Given the description of an element on the screen output the (x, y) to click on. 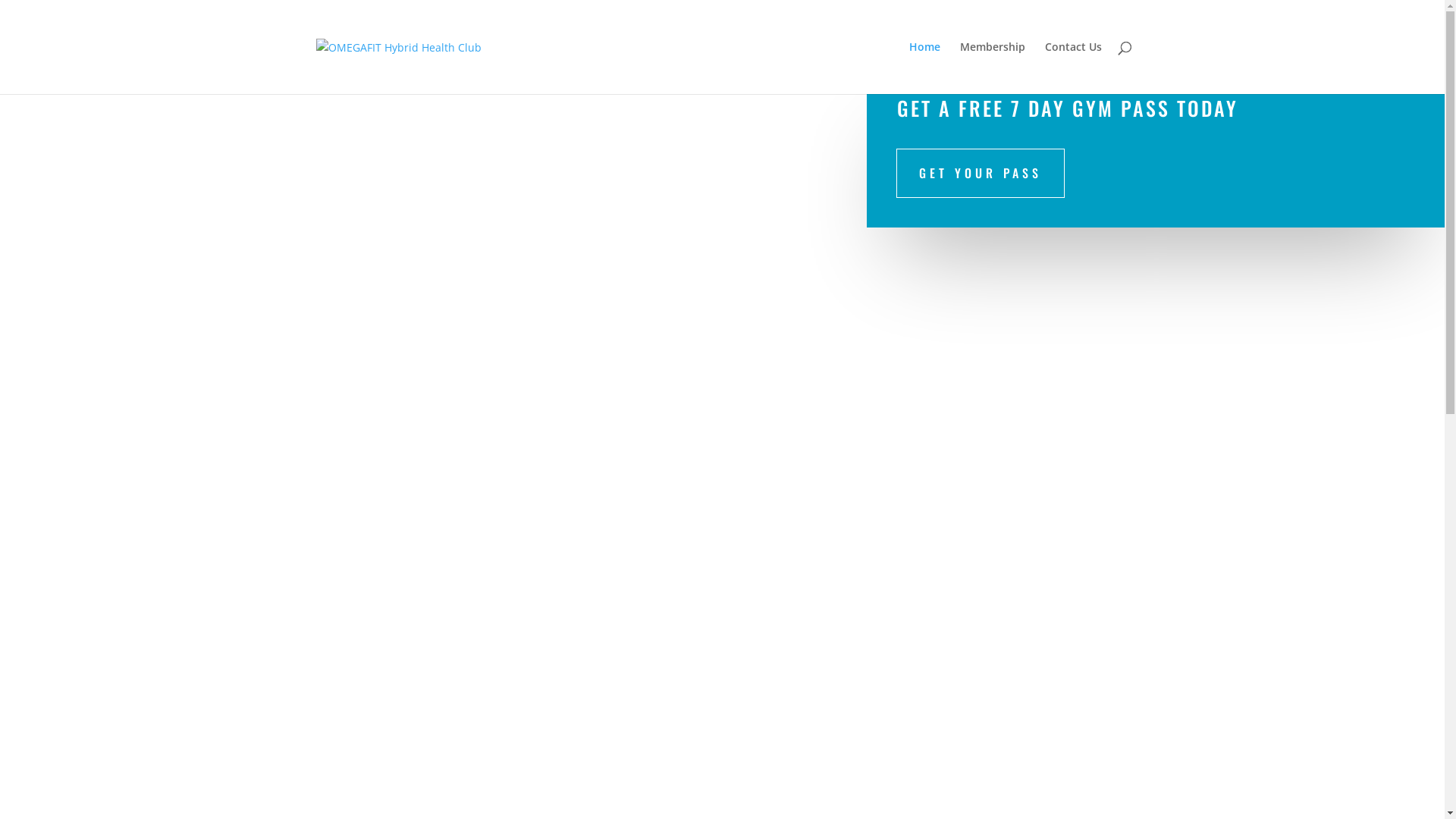
Membership Element type: text (992, 67)
GET YOUR PASS Element type: text (980, 173)
Contact Us Element type: text (1072, 67)
Home Element type: text (923, 67)
